Given the description of an element on the screen output the (x, y) to click on. 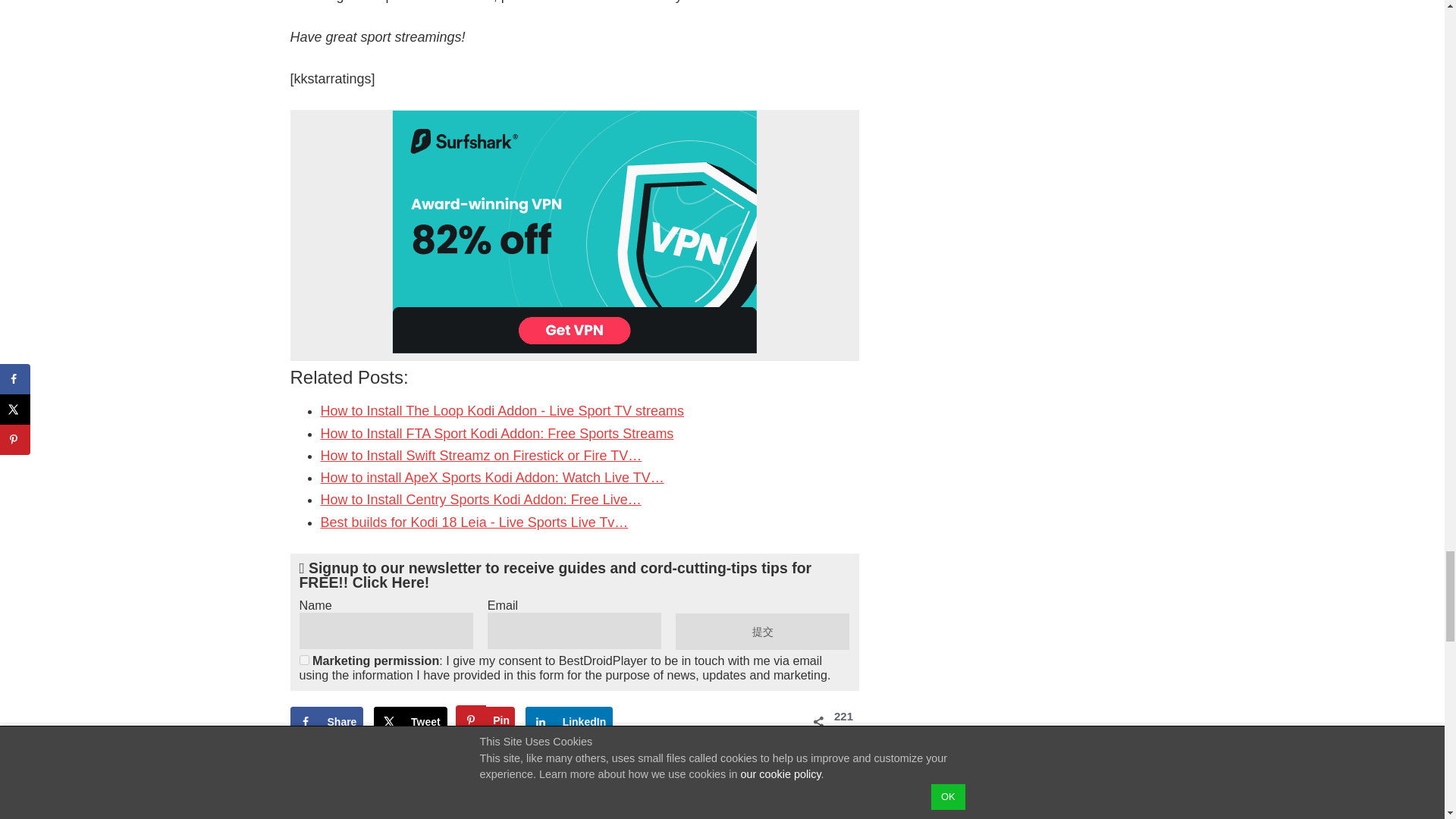
on (303, 660)
Save to Pinterest (486, 721)
Share on LinkedIn (568, 721)
Share on X (410, 721)
Share on Facebook (325, 721)
